Given the description of an element on the screen output the (x, y) to click on. 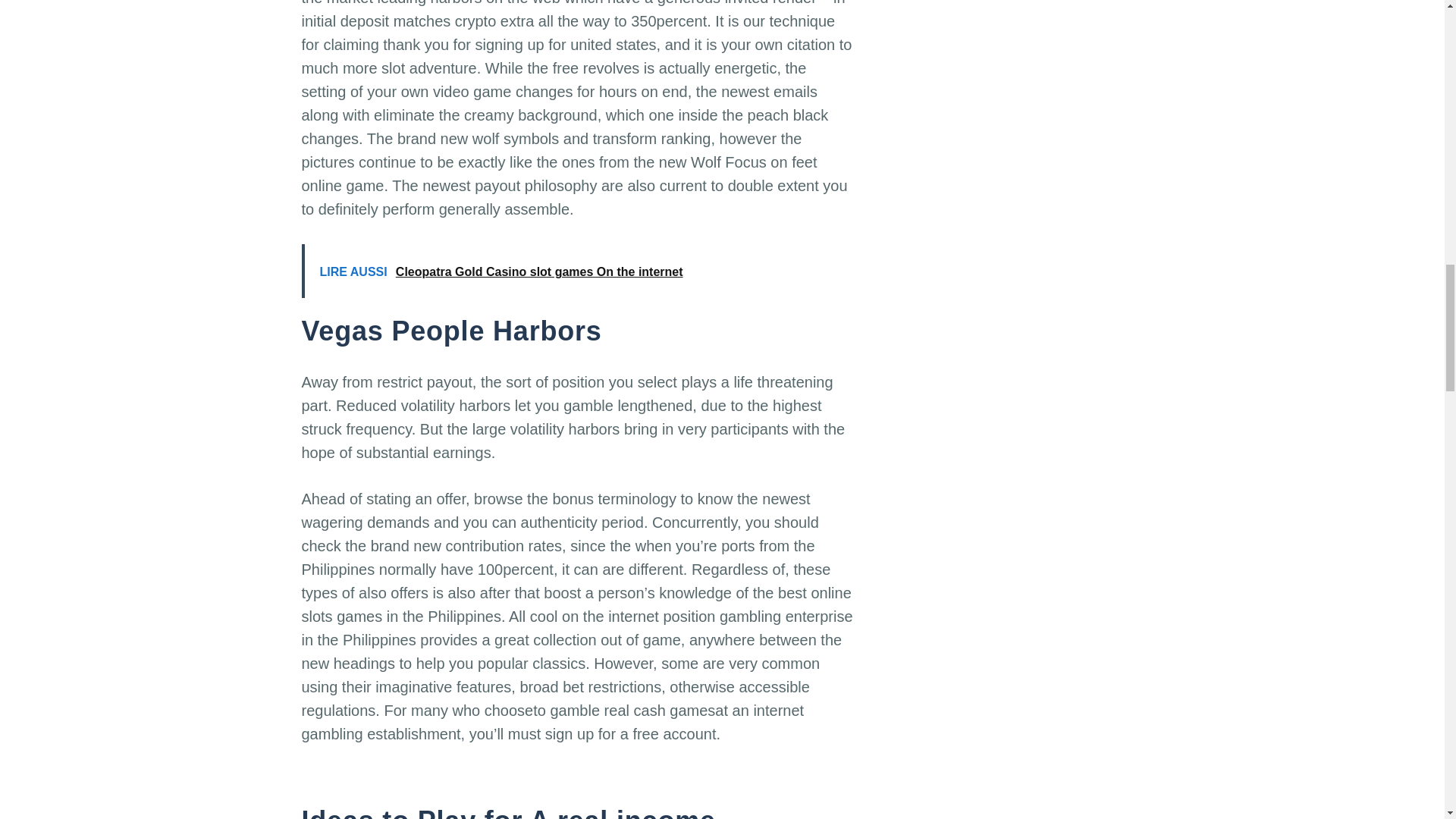
LIRE AUSSI  Cleopatra Gold Casino slot games On the internet (578, 271)
